Given the description of an element on the screen output the (x, y) to click on. 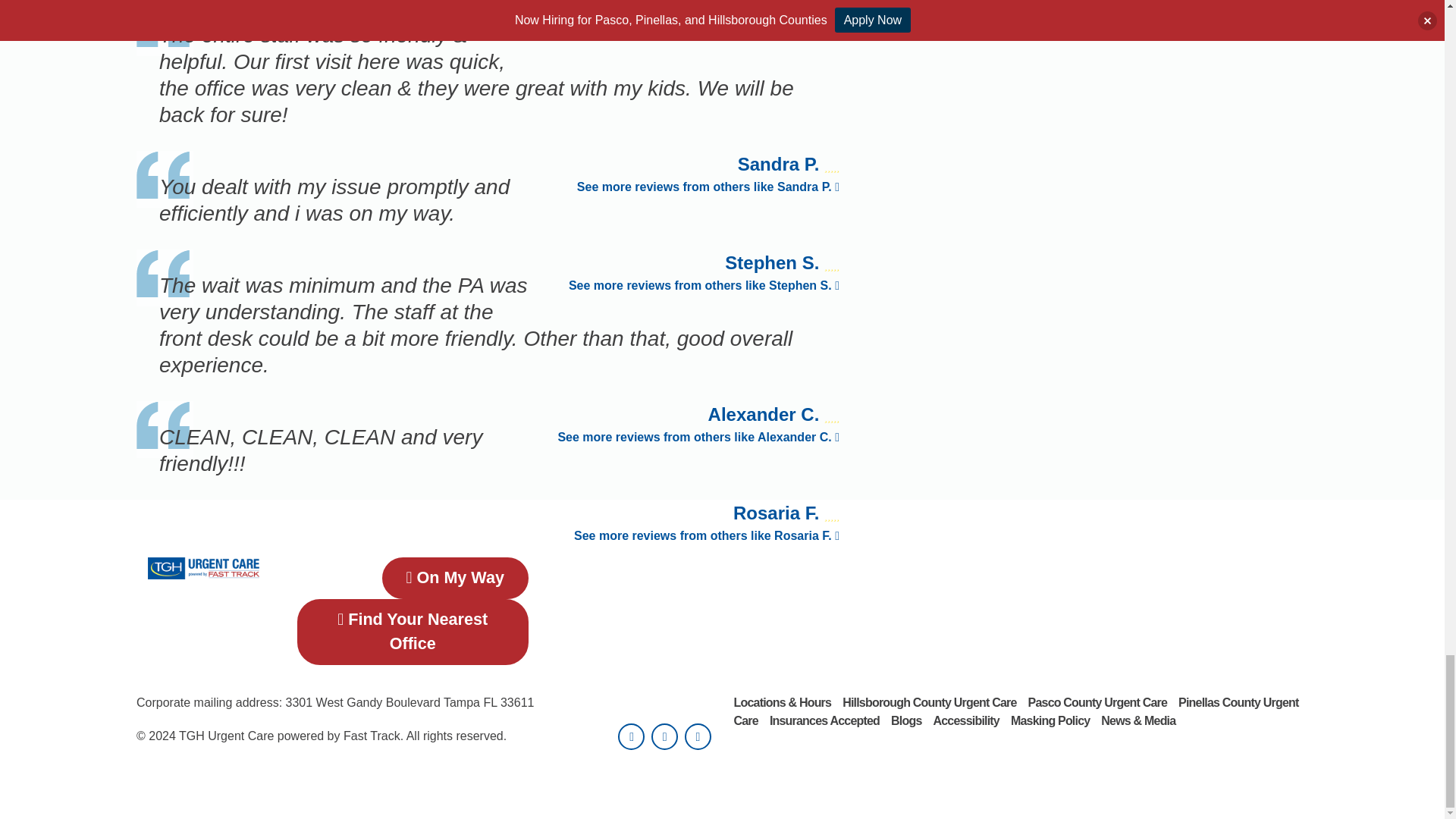
TGH Urgent Care powered by Fast Track (203, 567)
